Given the description of an element on the screen output the (x, y) to click on. 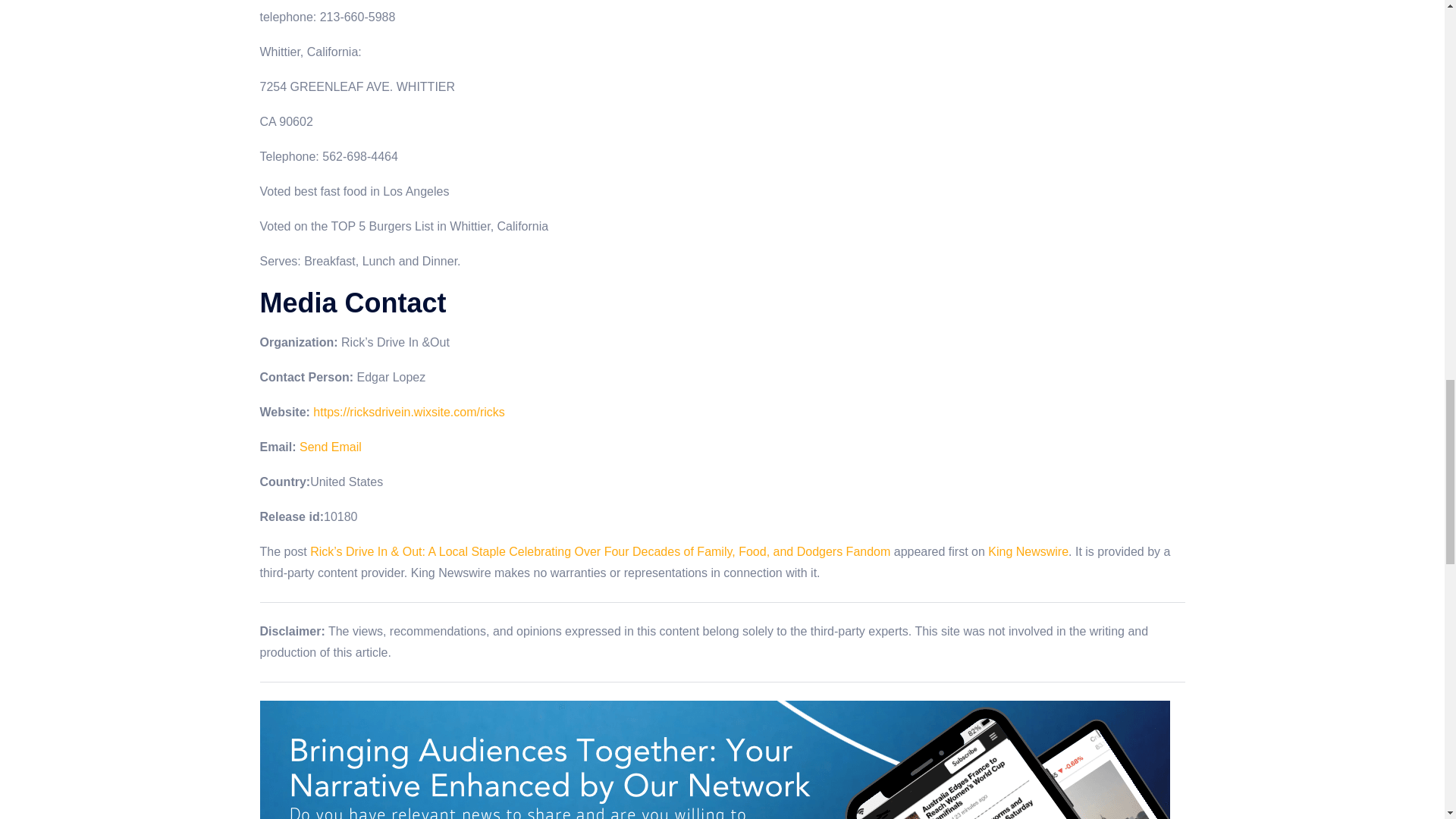
Send Email (330, 446)
King Newswire (1028, 551)
